Given the description of an element on the screen output the (x, y) to click on. 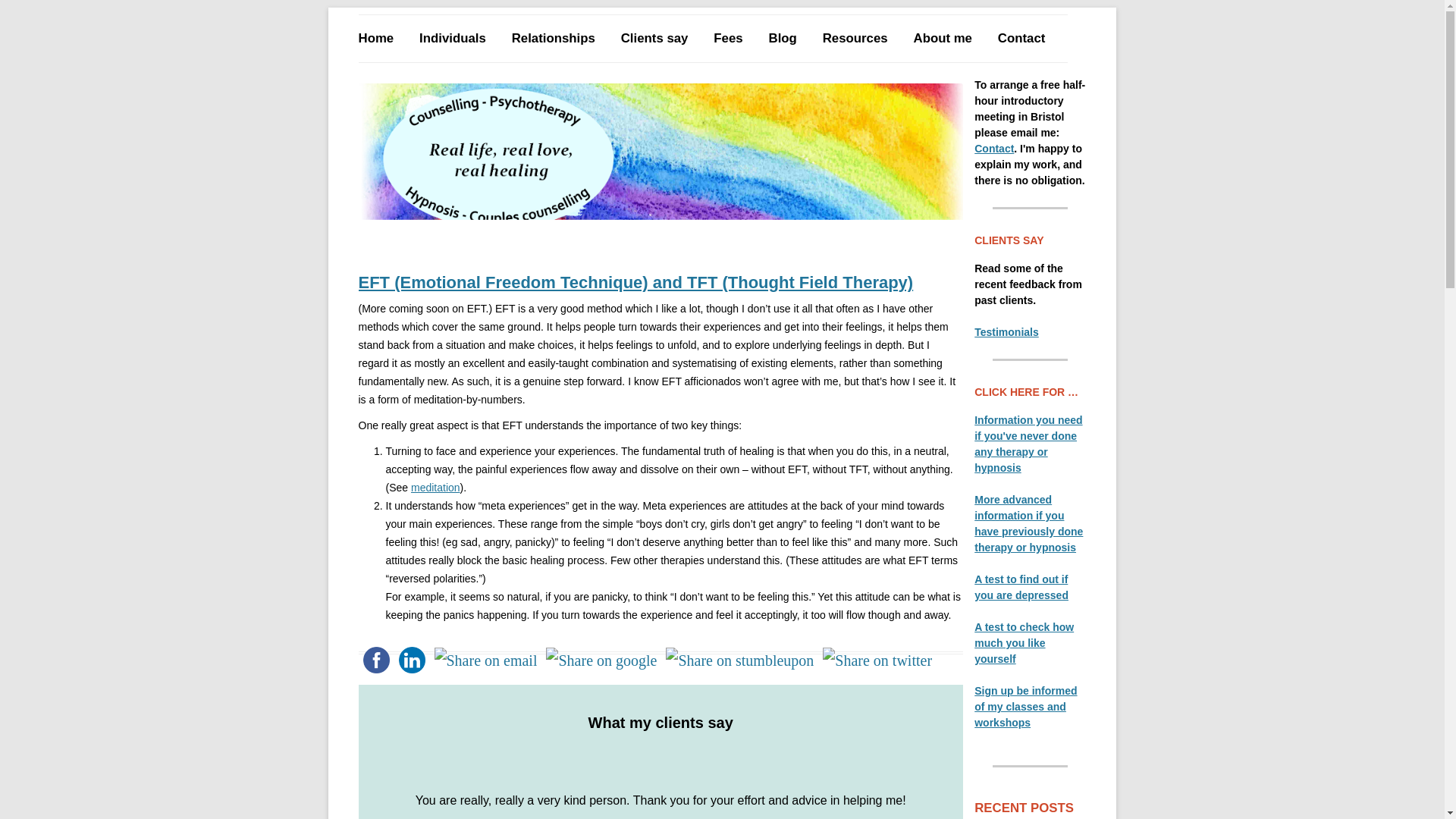
email (485, 660)
Clients say (654, 38)
Contact (993, 148)
facebook (375, 660)
stumbleupon (739, 660)
linkedin (411, 660)
A test to check how much you like yourself (1024, 642)
Meditation and mindfulness in therapy (435, 487)
